Given the description of an element on the screen output the (x, y) to click on. 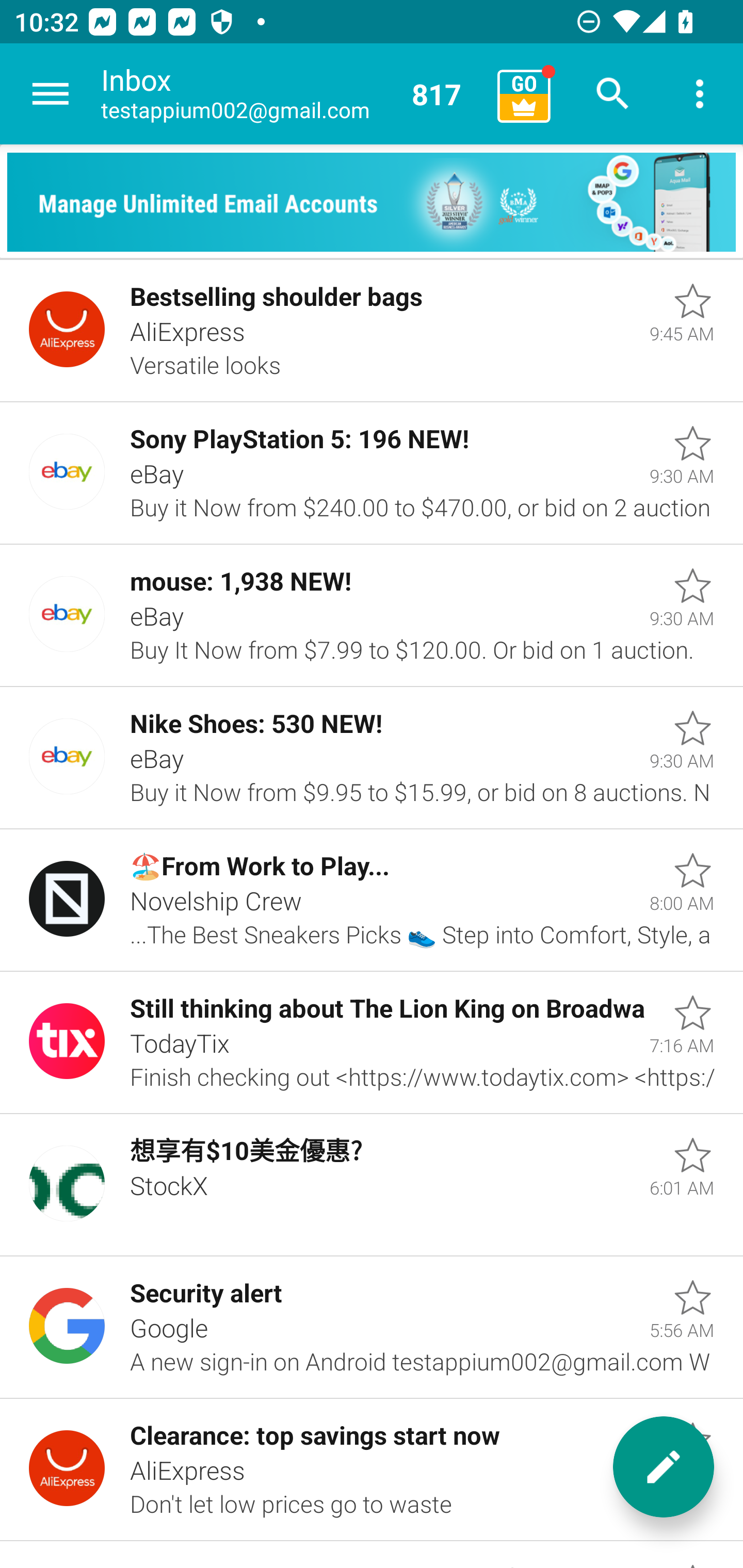
Navigate up (50, 93)
Inbox testappium002@gmail.com 817 (291, 93)
Search (612, 93)
More options (699, 93)
Unread, 想享有$10美金優惠?, StockX, 6:01 AM (371, 1184)
New message (663, 1466)
